Given the description of an element on the screen output the (x, y) to click on. 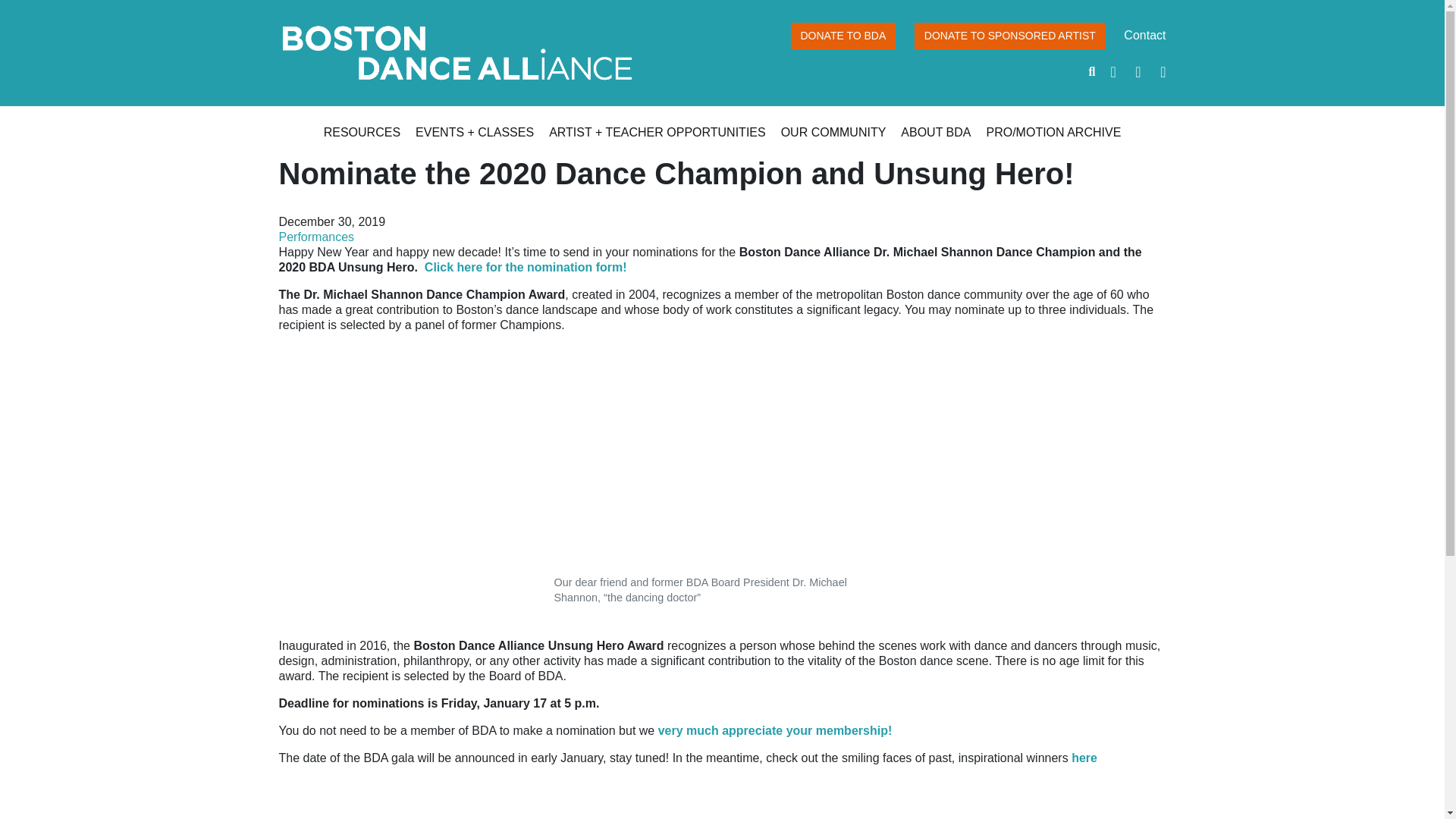
Contact (1145, 34)
DONATE TO BDA (842, 35)
DONATE TO SPONSORED ARTIST (1009, 35)
OUR COMMUNITY (833, 131)
RESOURCES (361, 131)
